Given the description of an element on the screen output the (x, y) to click on. 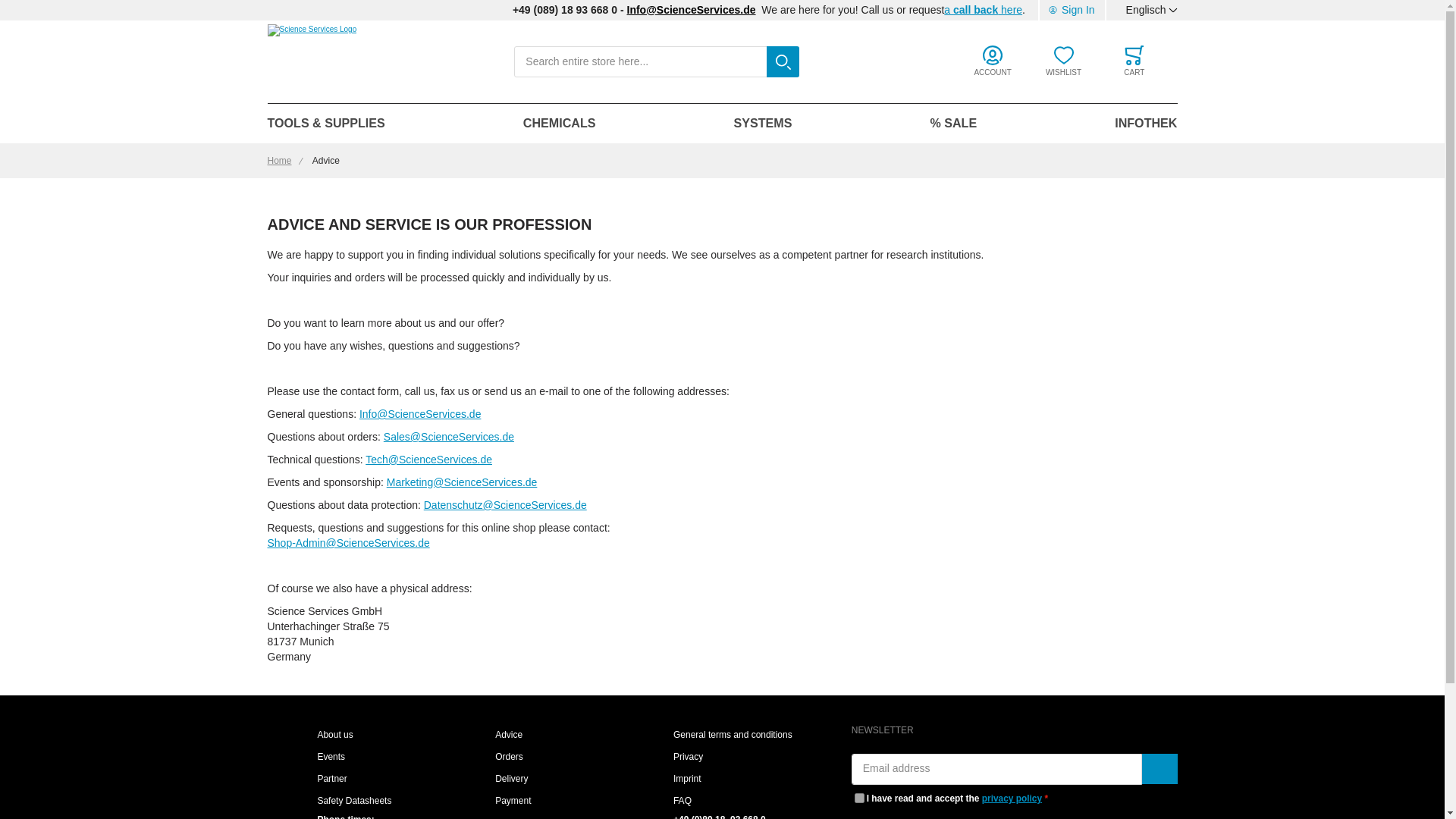
Payment (513, 801)
1 (859, 798)
Events (331, 757)
CHEMICALS (559, 123)
CART (1134, 61)
Delivery (511, 779)
Advice (508, 735)
Imprint (686, 779)
About us (334, 735)
Subscribe (1159, 768)
Science Services Logo (311, 61)
Sign In (1071, 10)
WISHLIST (1063, 61)
Safety Datasheets (354, 801)
Privacy (687, 757)
